Given the description of an element on the screen output the (x, y) to click on. 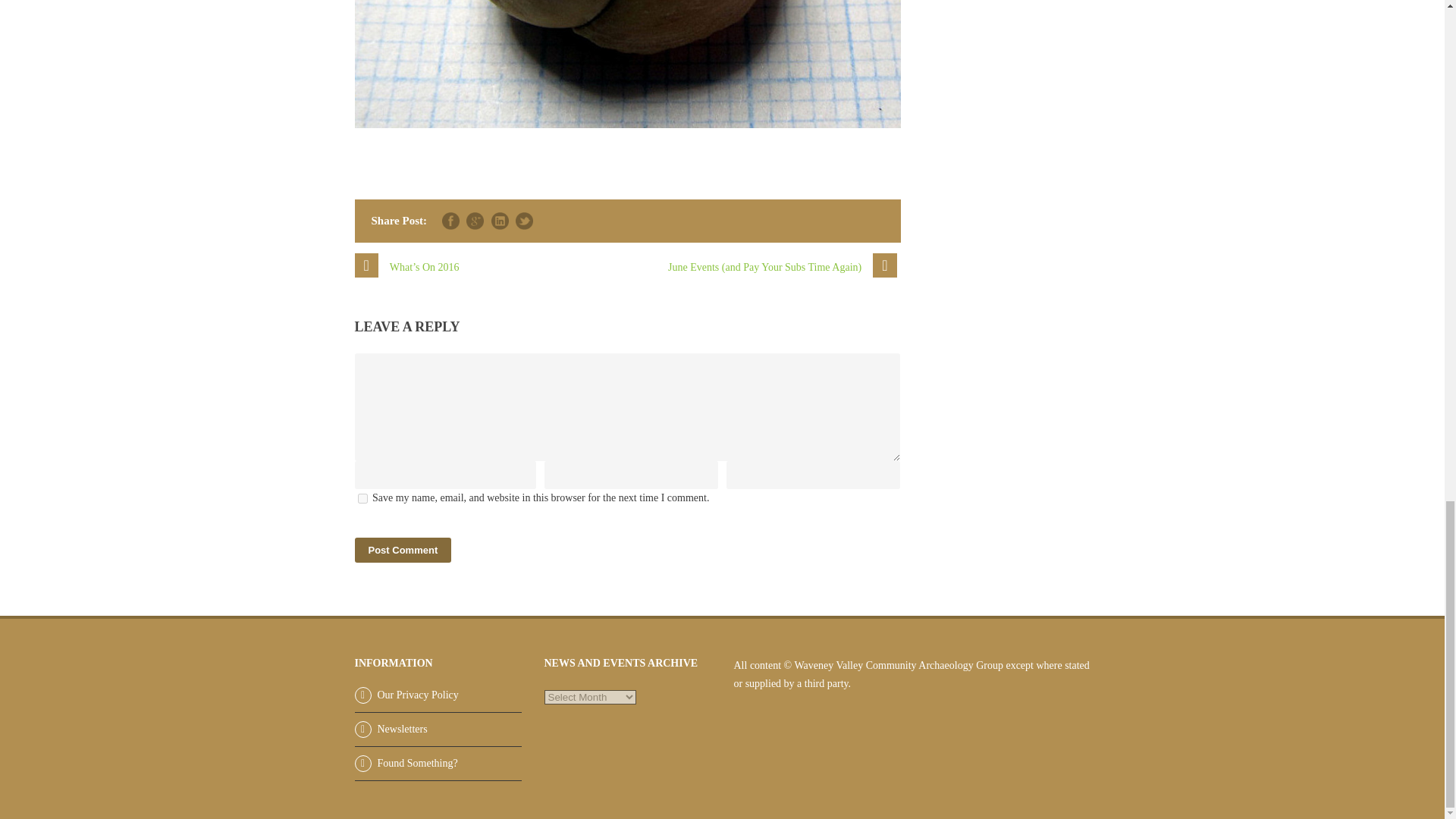
yes (363, 498)
Post Comment (403, 549)
Post Comment (403, 549)
